Given the description of an element on the screen output the (x, y) to click on. 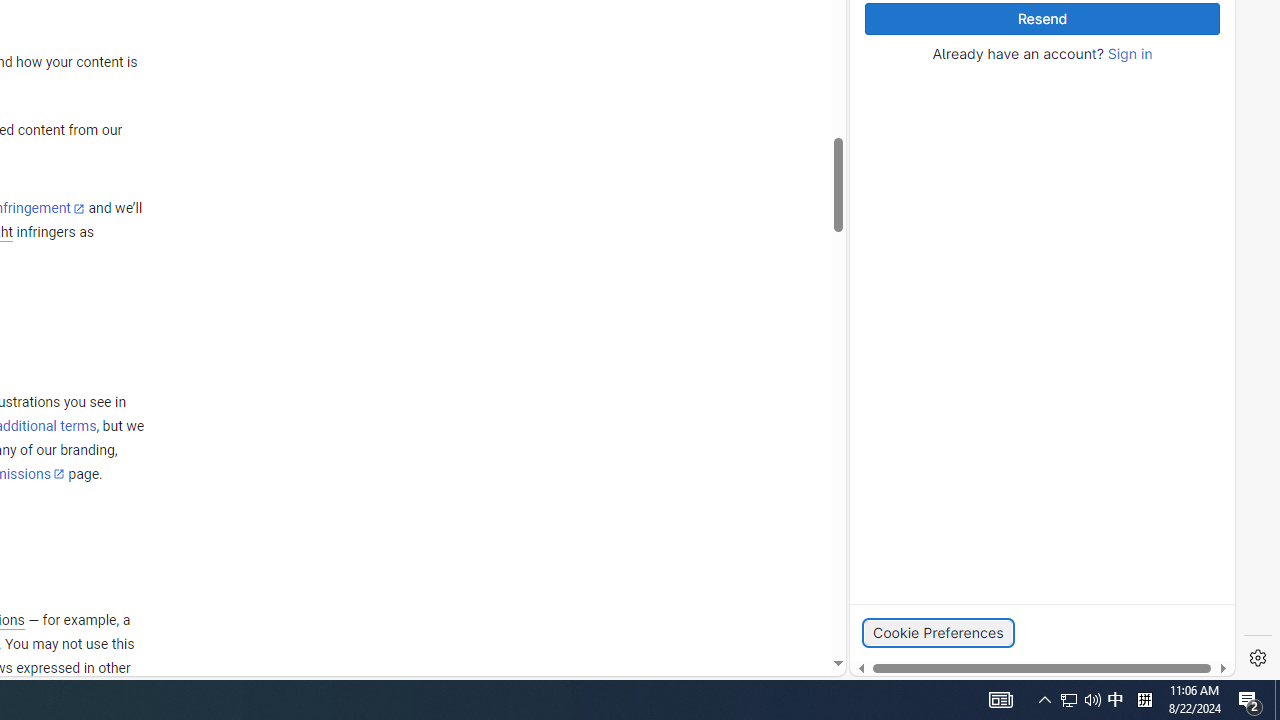
GitLab (966, 678)
View details (1145, 255)
Cookie Preferences (938, 632)
View details (1145, 256)
Resend (1042, 19)
